Given the description of an element on the screen output the (x, y) to click on. 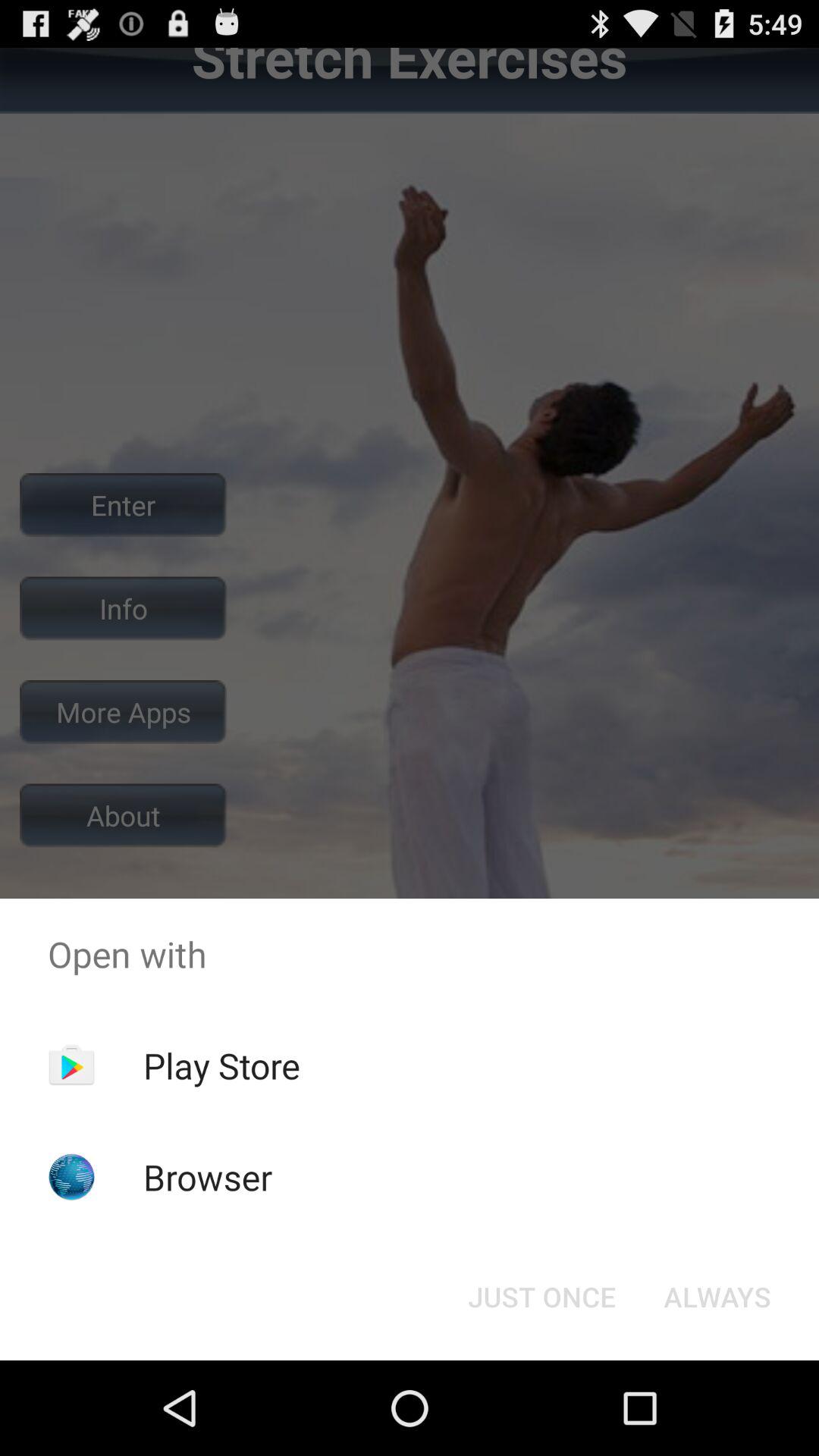
turn off item above browser (221, 1065)
